Given the description of an element on the screen output the (x, y) to click on. 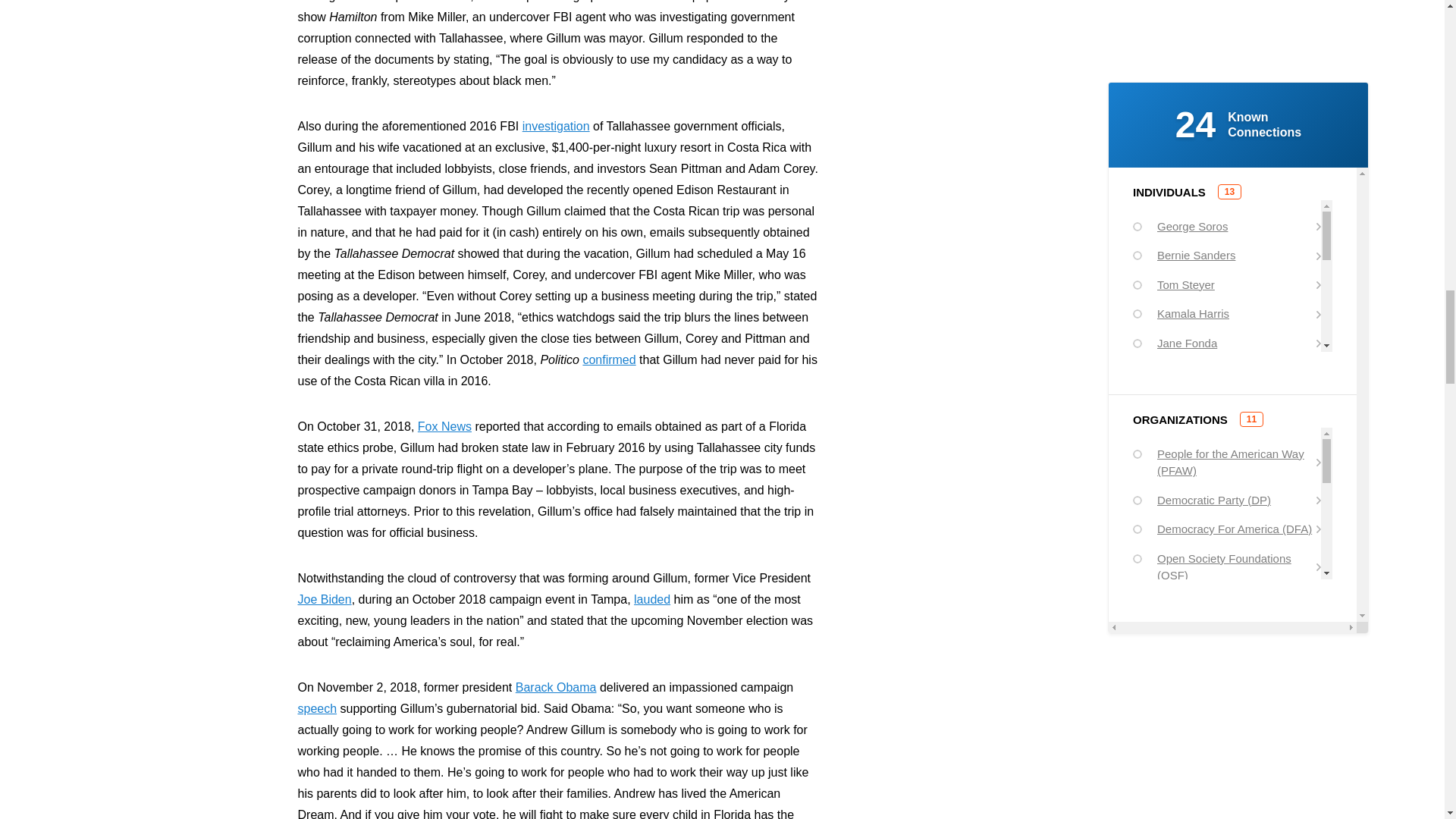
Joe Biden (323, 599)
Barack Obama (555, 686)
speech (316, 707)
confirmed (608, 359)
Fox News (444, 426)
investigation (555, 125)
lauded (651, 599)
